Given the description of an element on the screen output the (x, y) to click on. 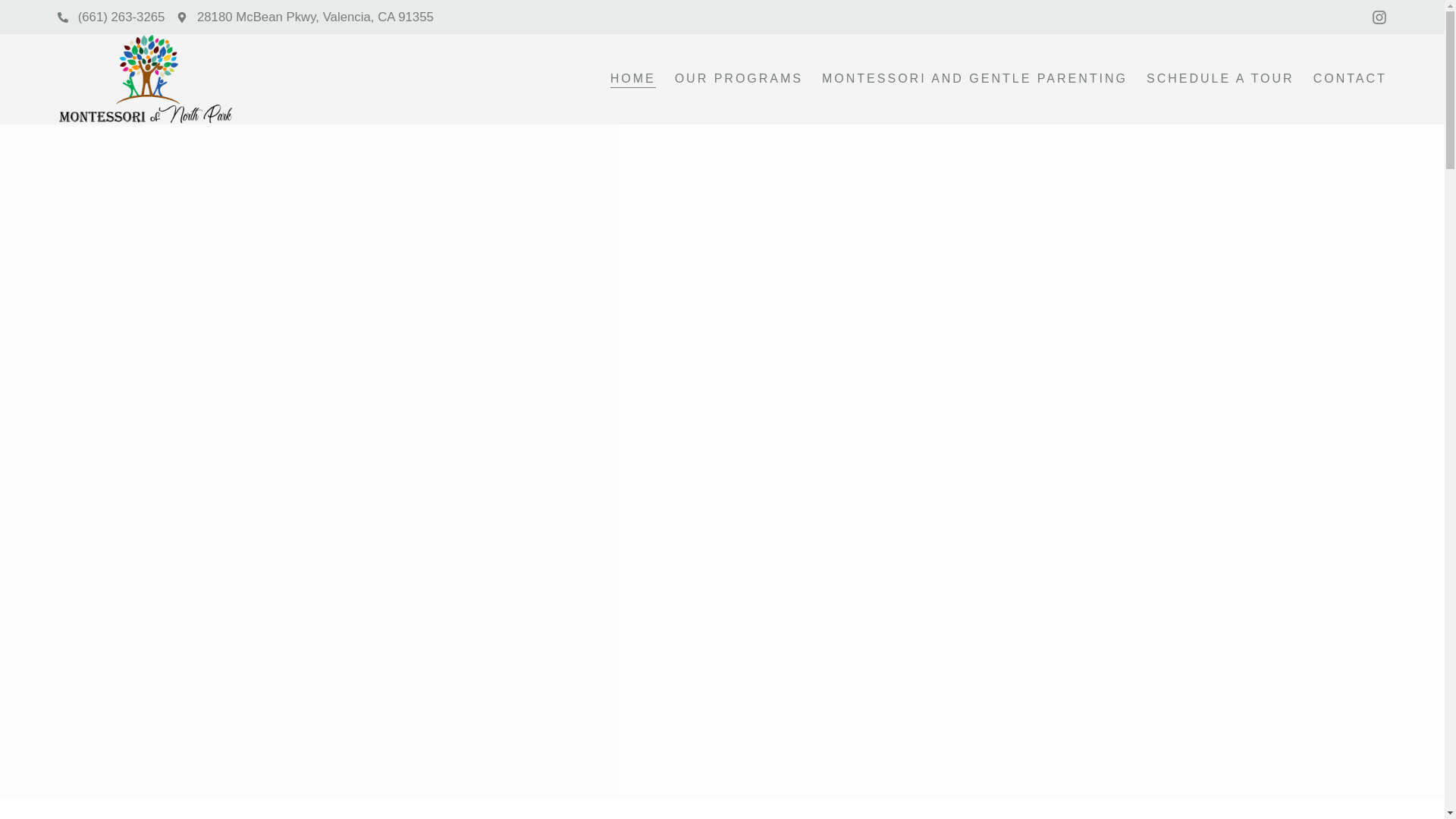
OUR PROGRAMS (739, 78)
28180 McBean Pkwy, Valencia, CA 91355 (304, 17)
SCHEDULE A TOUR (1220, 78)
CONTACT (1350, 78)
MONTESSORI AND GENTLE PARENTING (974, 78)
HOME (633, 78)
